Given the description of an element on the screen output the (x, y) to click on. 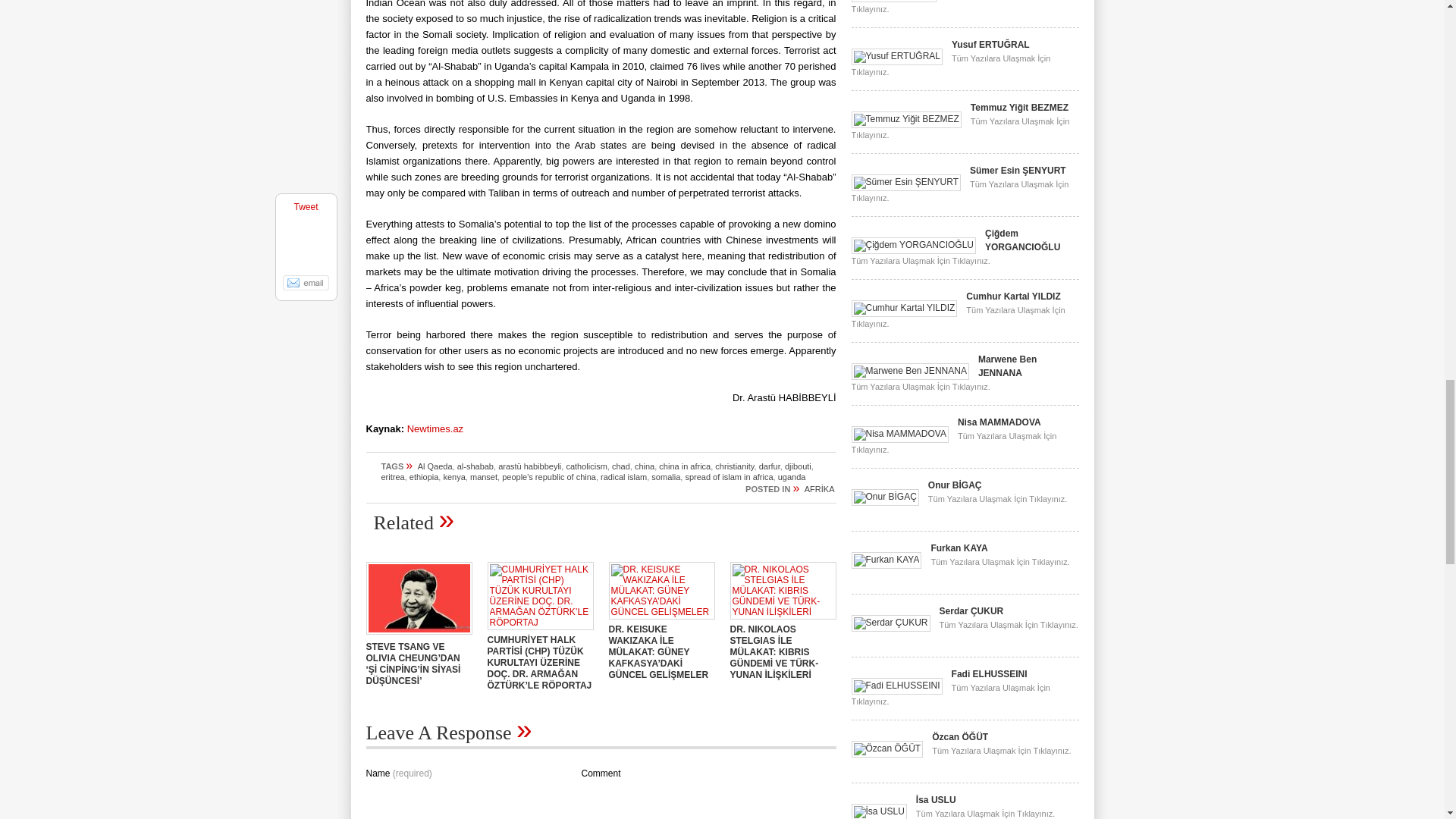
china (643, 465)
al-shabab (475, 465)
Newtimes.az (435, 428)
chad (620, 465)
Al Qaeda (434, 465)
catholicism (586, 465)
